Given the description of an element on the screen output the (x, y) to click on. 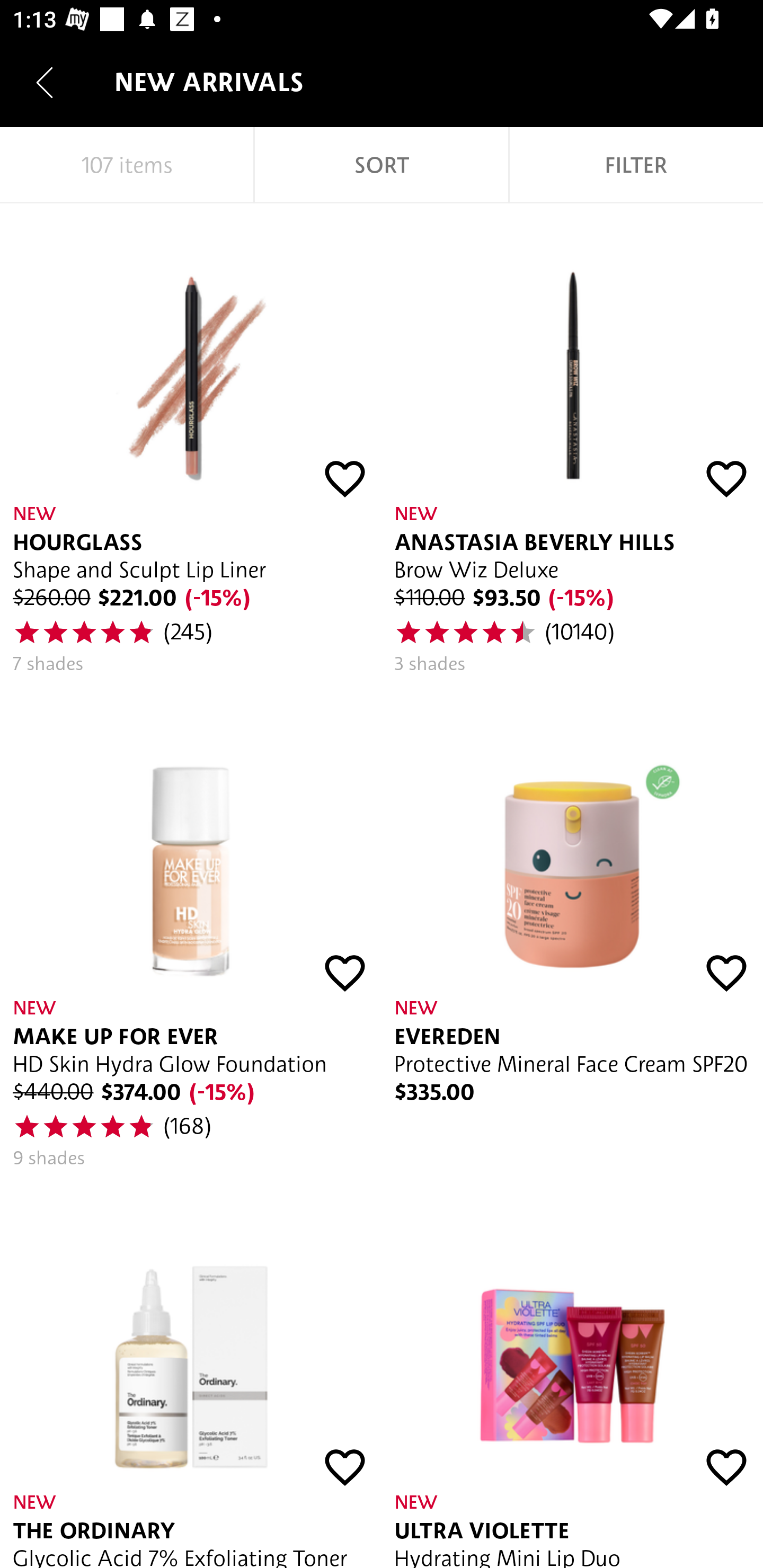
Navigate up (44, 82)
SORT (381, 165)
FILTER (636, 165)
NEW ULTRA VIOLETTE Hydrating Mini Lip Duo (572, 1375)
